Given the description of an element on the screen output the (x, y) to click on. 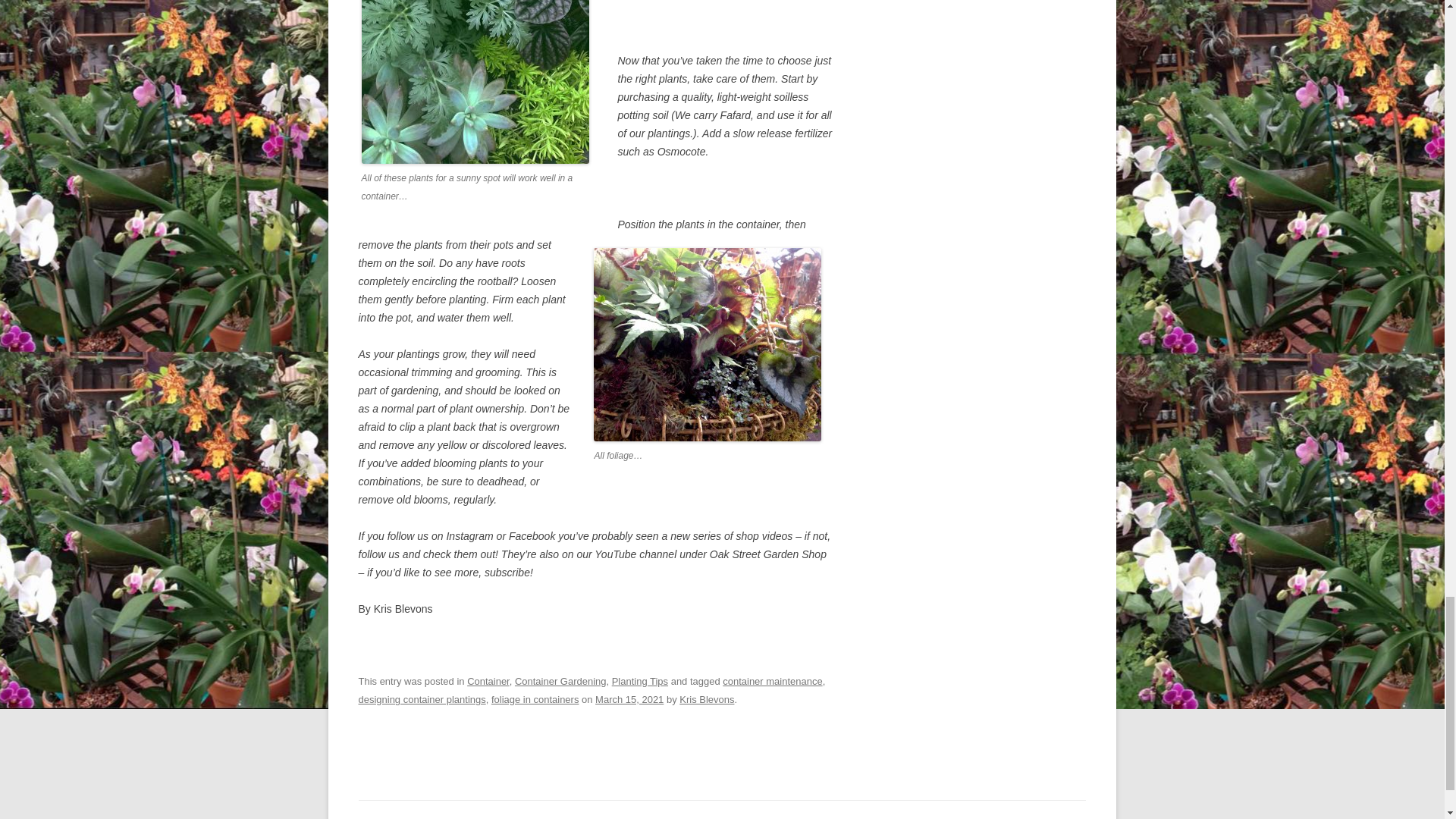
View all posts by Kris Blevons (706, 699)
Container (488, 681)
Planting Tips (639, 681)
foliage in containers (535, 699)
container maintenance (772, 681)
designing container plantings (421, 699)
Container Gardening (561, 681)
8:00 am (629, 699)
